Given the description of an element on the screen output the (x, y) to click on. 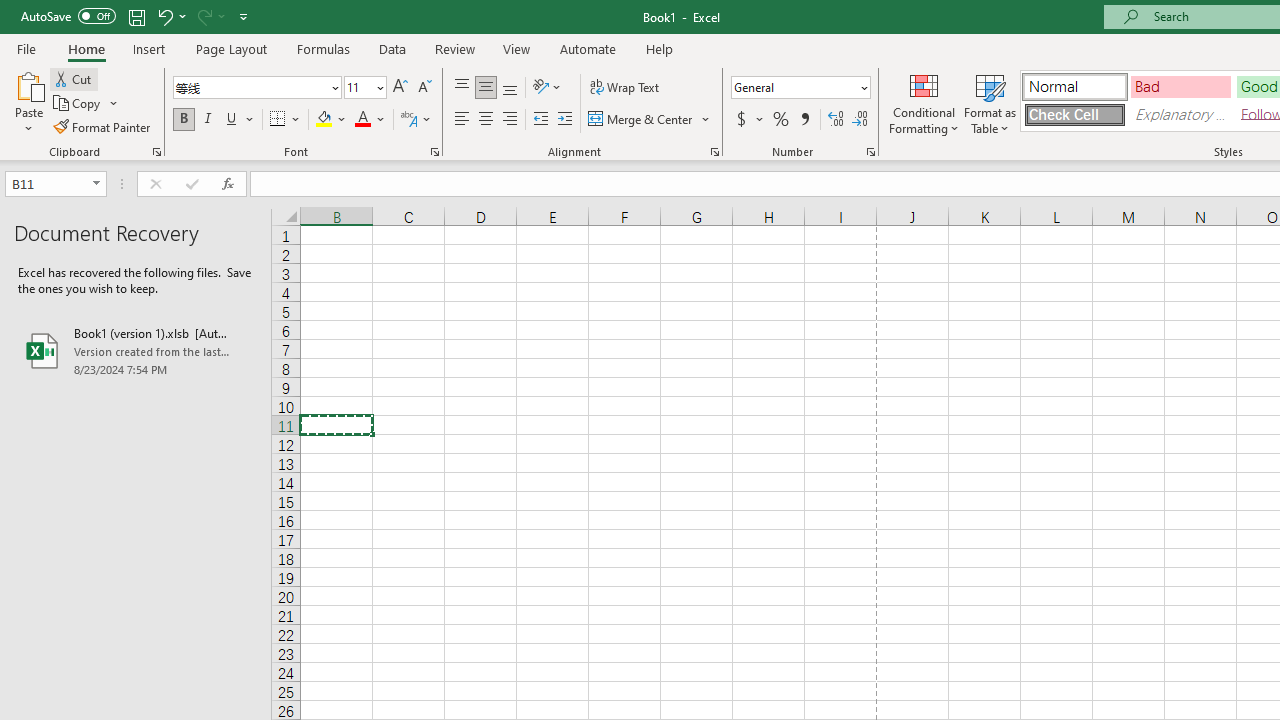
Office Clipboard... (156, 151)
Bottom Border (278, 119)
Font Size (358, 87)
Format as Table (990, 102)
Align Right (509, 119)
Accounting Number Format (749, 119)
Underline (239, 119)
Font Color (370, 119)
Italic (207, 119)
Format Painter (103, 126)
